Given the description of an element on the screen output the (x, y) to click on. 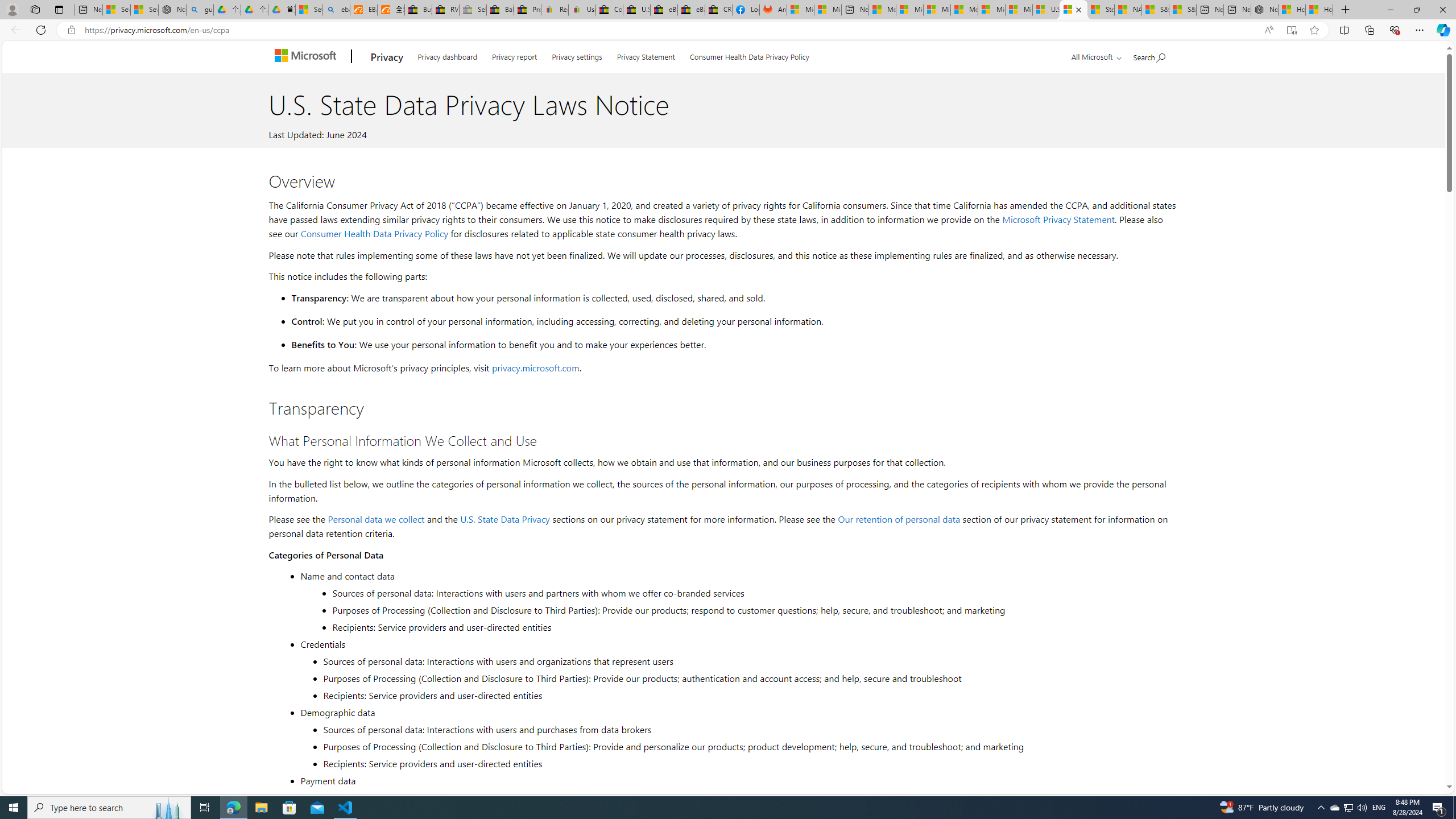
ebay - Search (336, 9)
Privacy Statement (645, 54)
eBay Inc. Reports Third Quarter 2023 Results (691, 9)
User Privacy Notice | eBay (581, 9)
Press Room - eBay Inc. (527, 9)
Register: Create a personal eBay account (554, 9)
Credentials (736, 644)
Privacy (386, 56)
Address and search bar (669, 29)
Split screen (1344, 29)
Browser essentials (1394, 29)
New Tab (1346, 9)
Log into Facebook (746, 9)
